Given the description of an element on the screen output the (x, y) to click on. 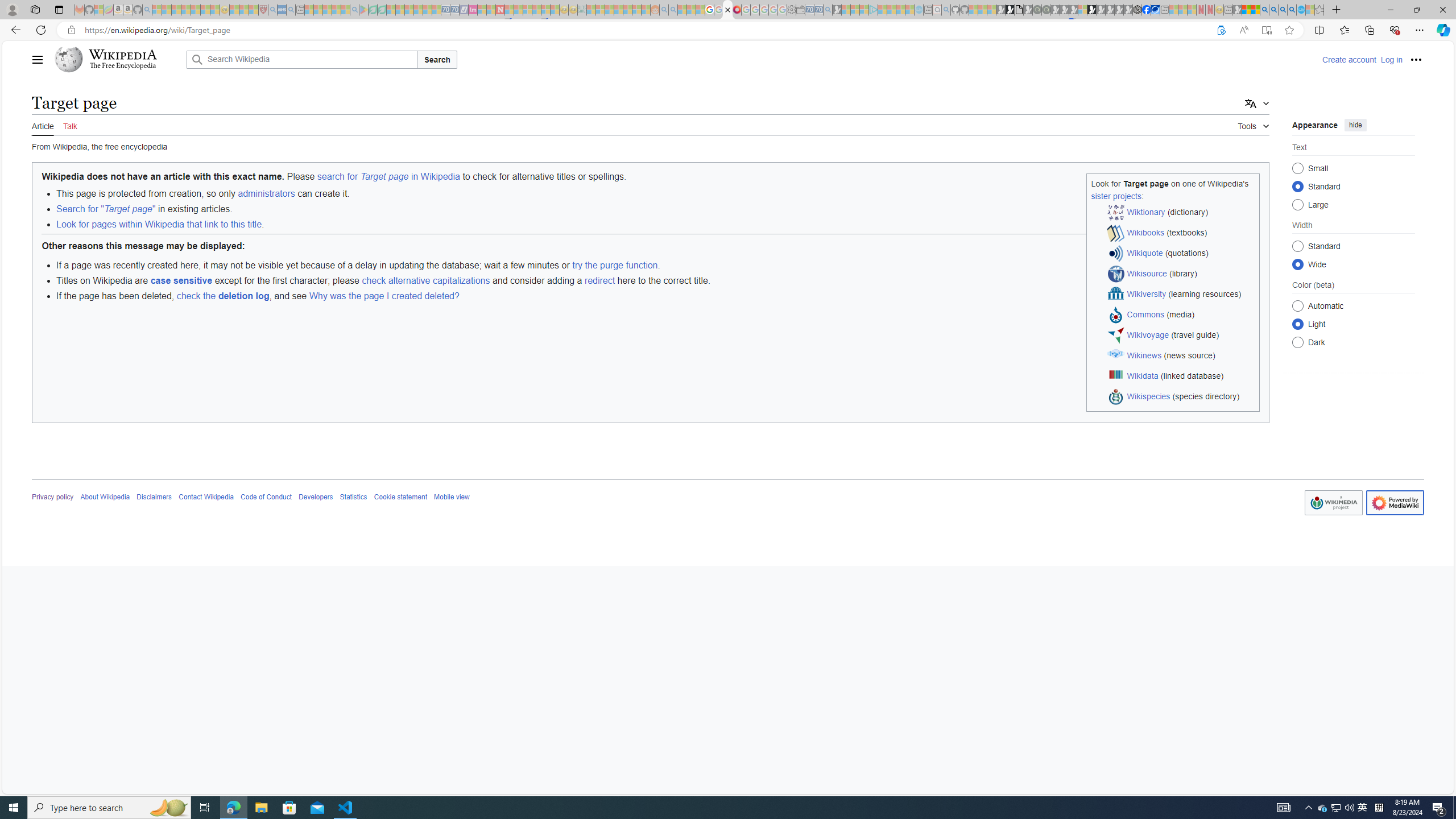
Disclaimers (153, 497)
Statistics (352, 496)
Support Wikipedia? (1220, 29)
Home | Sky Blue Bikes - Sky Blue Bikes - Sleeping (919, 9)
